Given the description of an element on the screen output the (x, y) to click on. 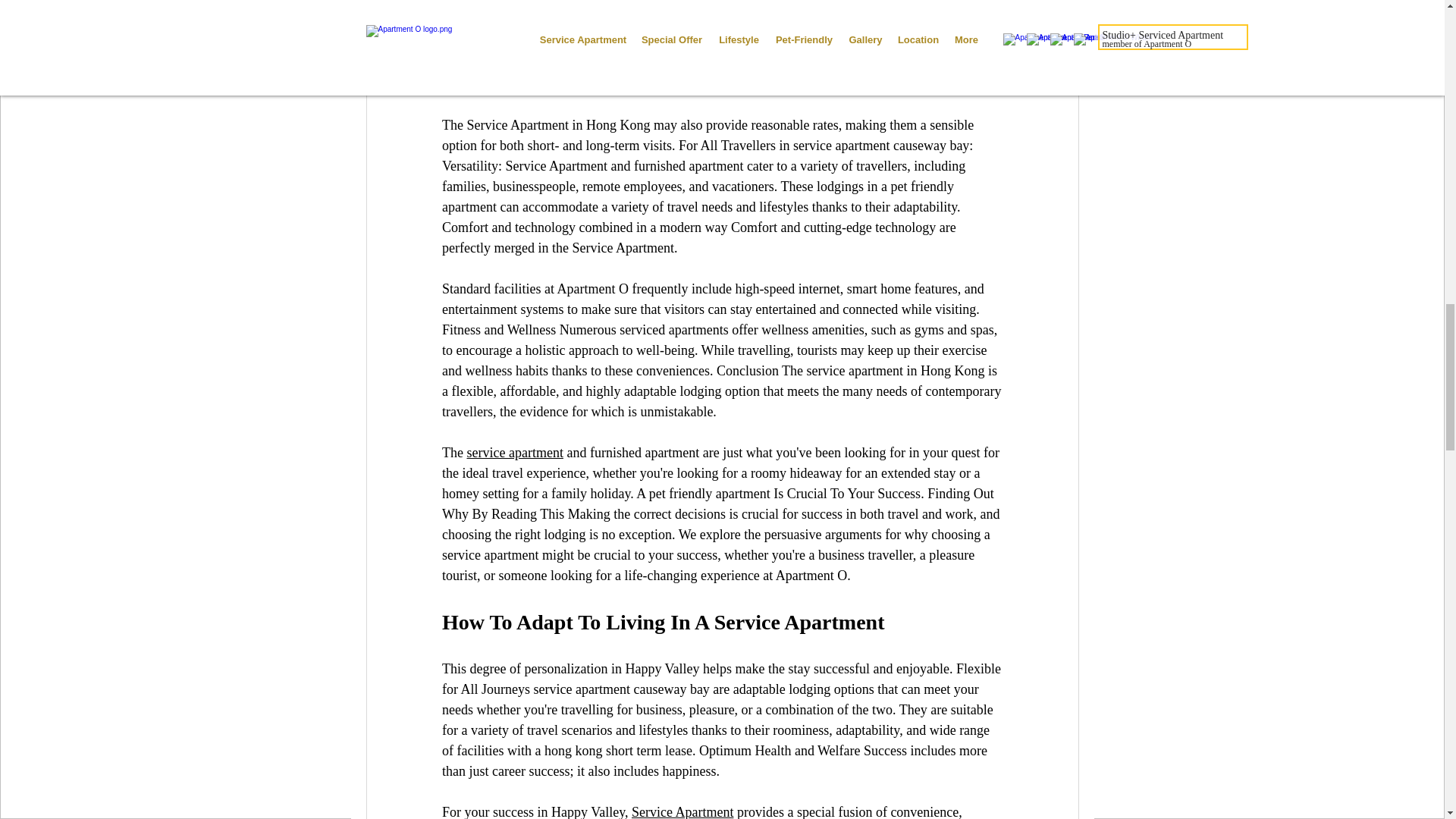
Service Apartment (760, 78)
service apartment (513, 452)
Service Apartment (681, 811)
